Given the description of an element on the screen output the (x, y) to click on. 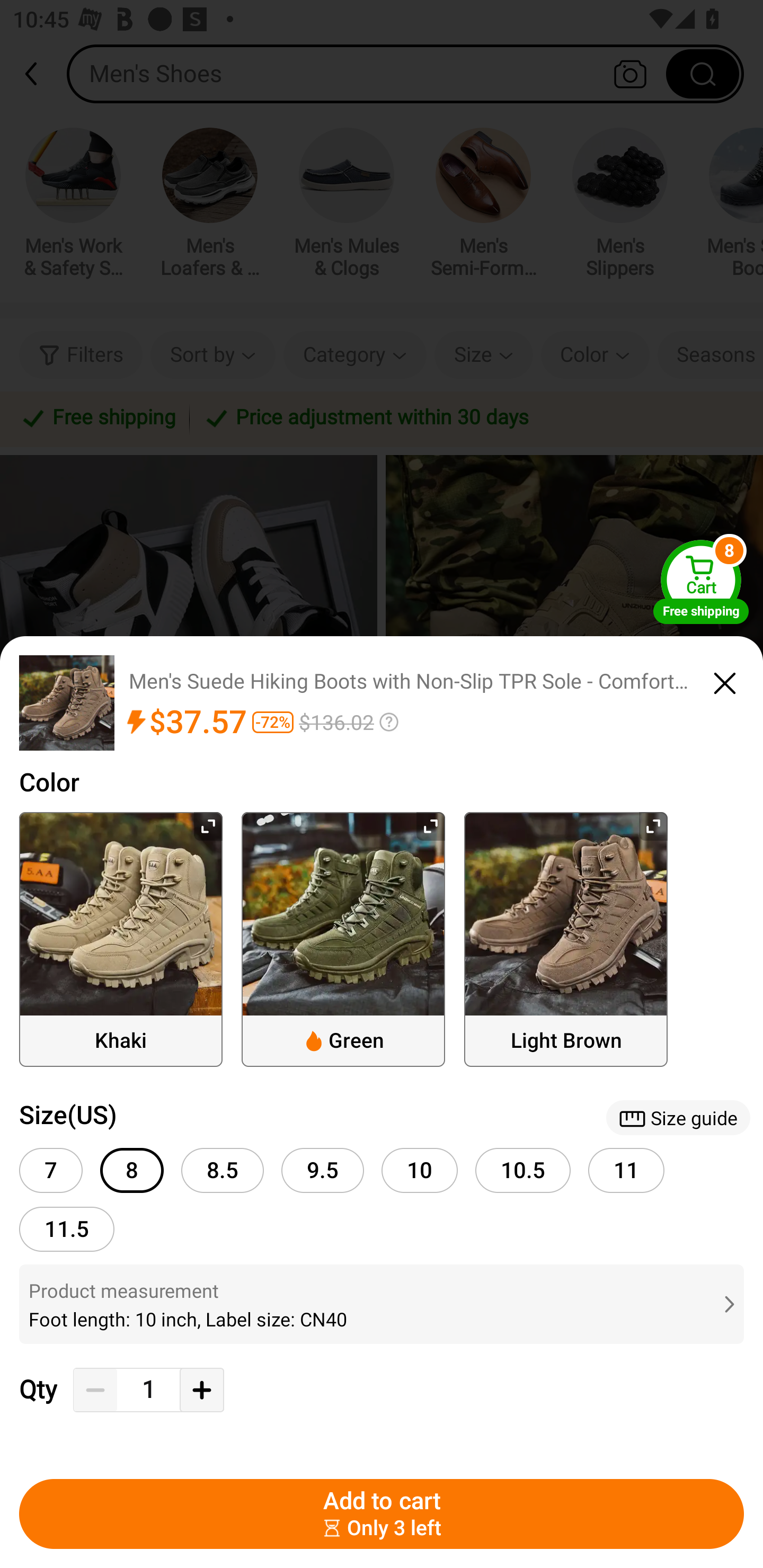
Cart Free shipping Cart (701, 581)
close (724, 680)
Khaki (120, 939)
Green ￼Green (342, 939)
Light Brown (565, 939)
￼Size guide (677, 1117)
 7 (50, 1170)
 8 (131, 1170)
 8.5 (222, 1170)
 9.5 (322, 1170)
 10 (419, 1170)
 10.5 (522, 1170)
 11 (626, 1170)
 11.5 (66, 1229)
Decrease Quantity Button (95, 1389)
Add Quantity Button (201, 1389)
1 (148, 1389)
Add to cart ￼￼Only 3 left (381, 1513)
